Given the description of an element on the screen output the (x, y) to click on. 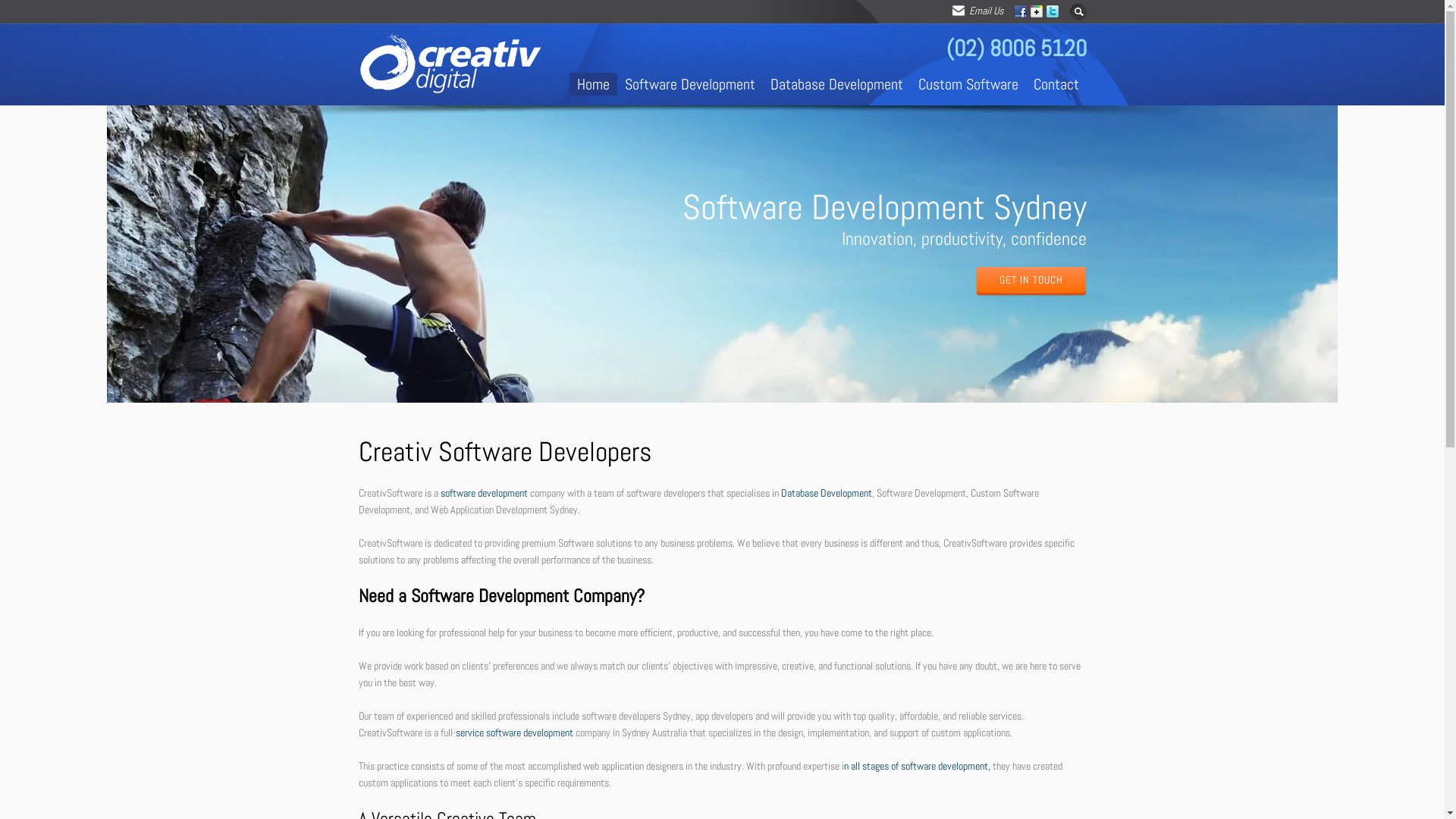
service software development Element type: text (513, 732)
Home Element type: text (592, 83)
Email Us Element type: text (980, 10)
Software Development Element type: text (689, 83)
GET IN TOUCH Element type: text (1030, 281)
n all stages of software development, Element type: text (916, 765)
software development Element type: text (483, 492)
Custom Software Element type: text (967, 83)
Database Development Element type: text (836, 83)
Database Development Element type: text (826, 492)
Contact Element type: text (1055, 83)
